Given the description of an element on the screen output the (x, y) to click on. 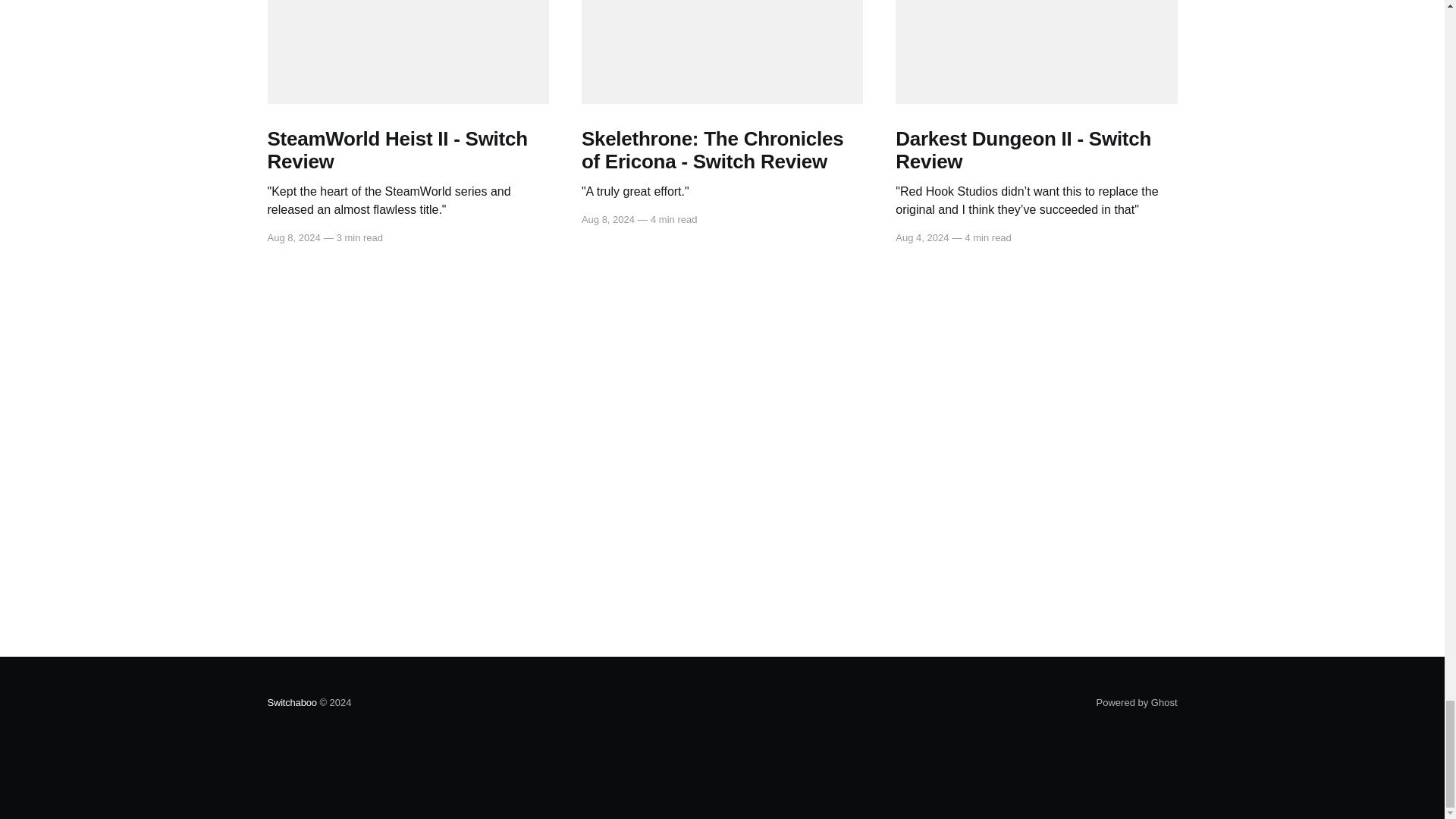
Powered by Ghost (1136, 702)
Switchaboo (290, 702)
